Given the description of an element on the screen output the (x, y) to click on. 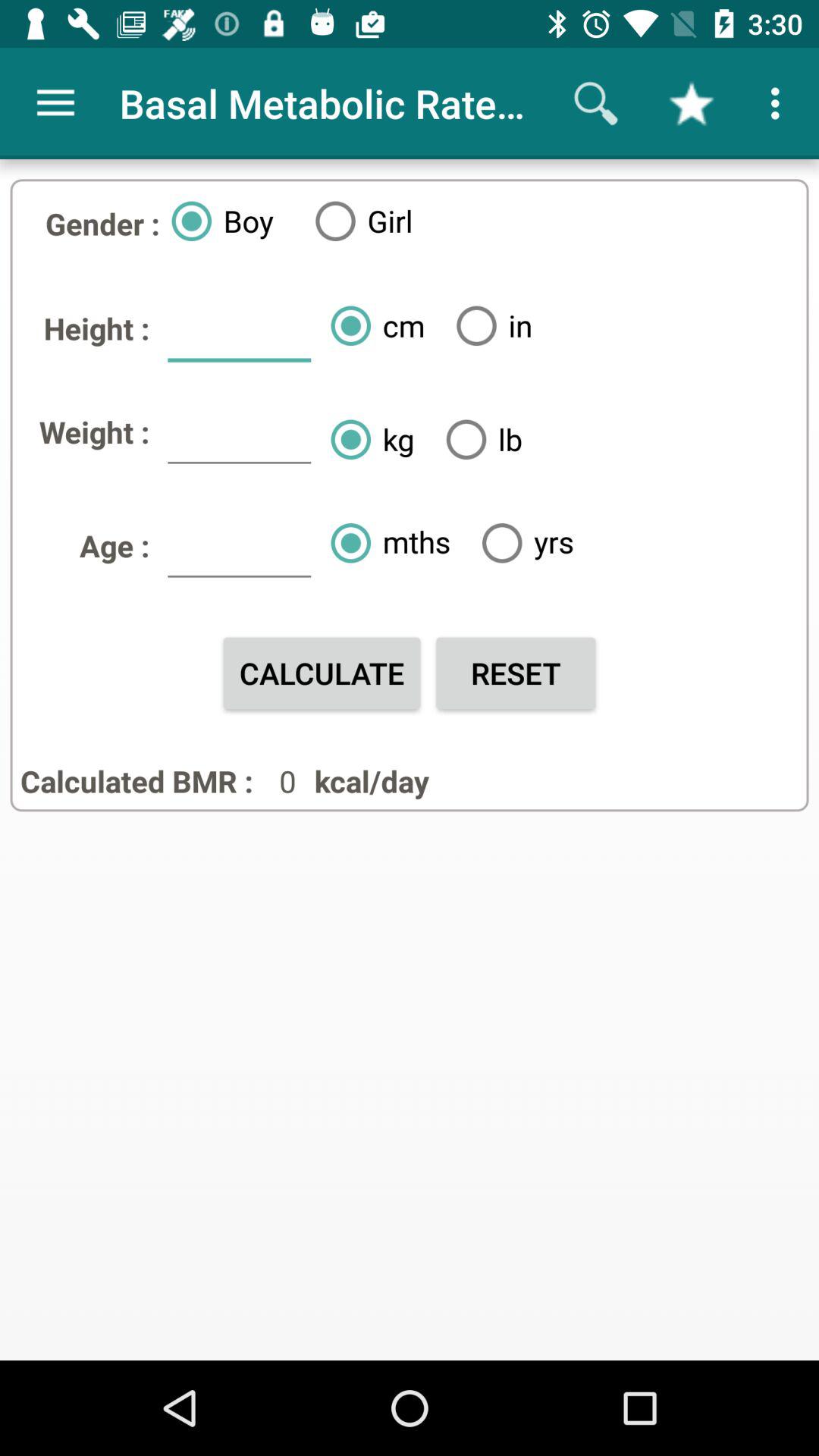
select the icon above the reset item (521, 543)
